Given the description of an element on the screen output the (x, y) to click on. 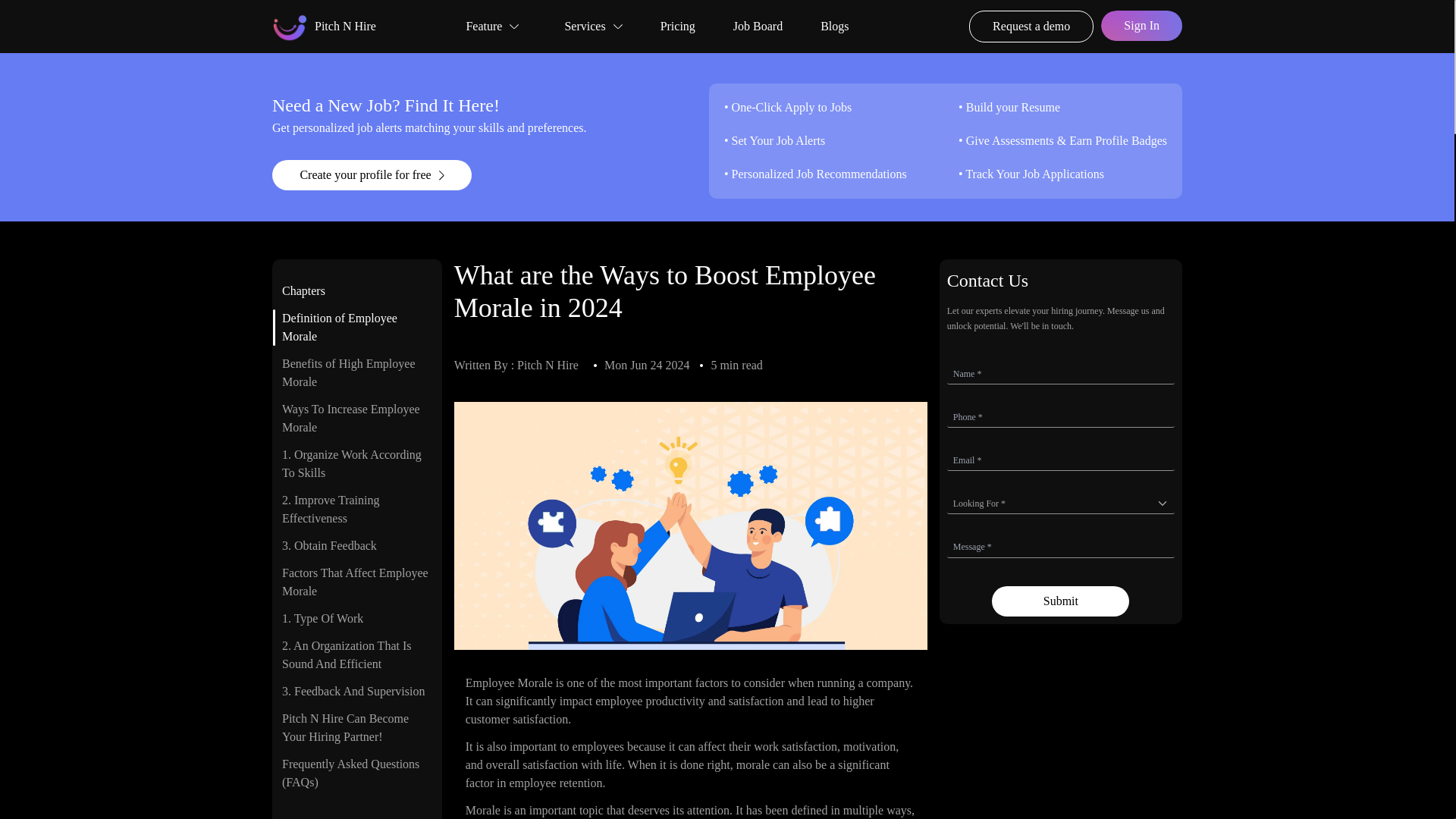
Job Board (758, 26)
Create your profile for free (490, 174)
Blogs (834, 26)
Request a demo (1031, 26)
Sign In (1141, 26)
Pitch N Hire (323, 26)
Create your profile for free (371, 174)
employee retention (555, 782)
Request a demo (1031, 26)
Pricing (678, 26)
